Given the description of an element on the screen output the (x, y) to click on. 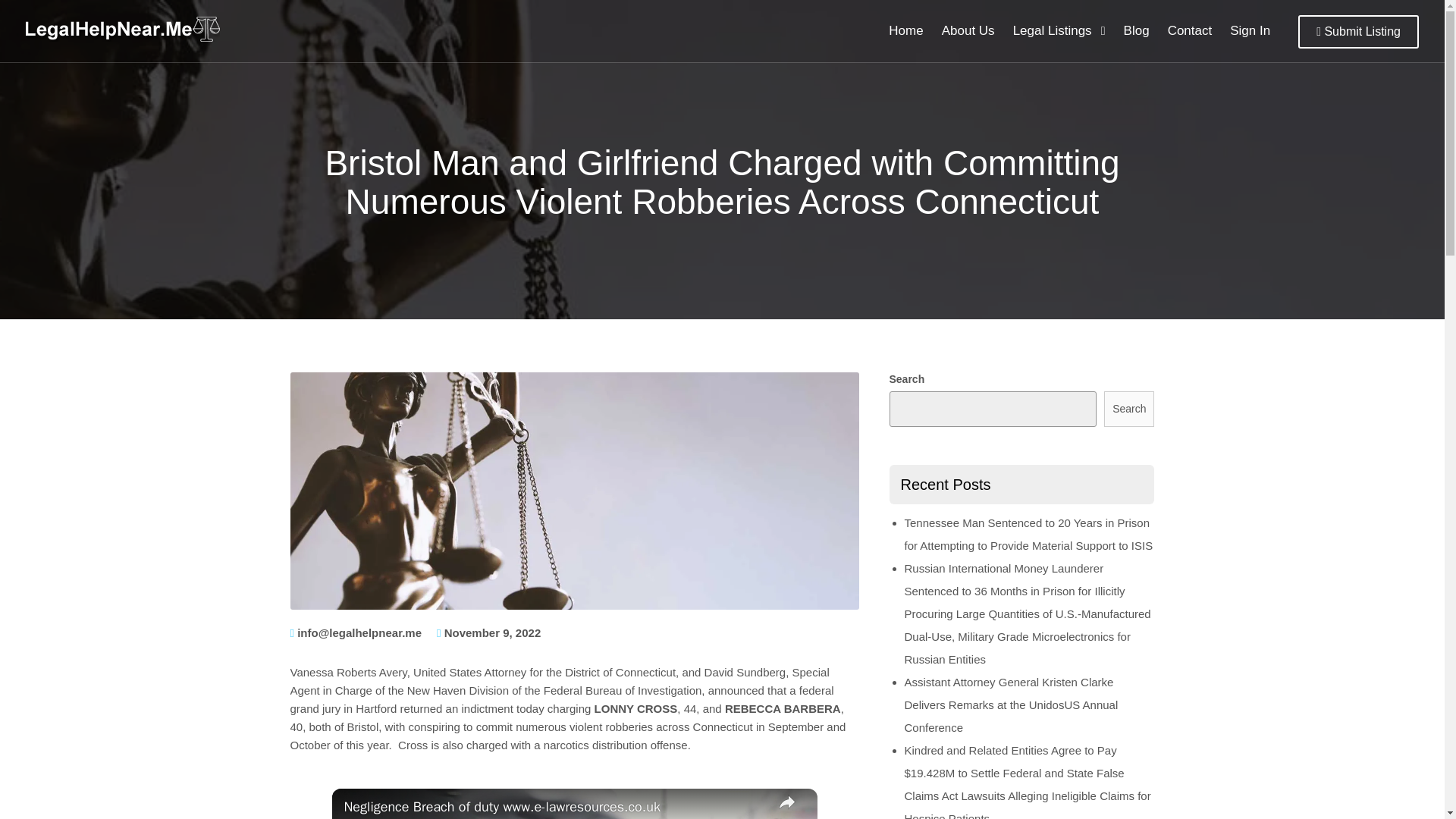
Negligence Breach of duty www.e-lawresources.co.uk (554, 807)
Share (786, 803)
Search (1128, 408)
Home (905, 31)
Legal Listings (1059, 31)
November 9, 2022 (492, 632)
Blog (1136, 31)
Sign In (1250, 31)
About Us (968, 31)
share (786, 803)
Contact (1189, 31)
Submit Listing (1358, 31)
